Given the description of an element on the screen output the (x, y) to click on. 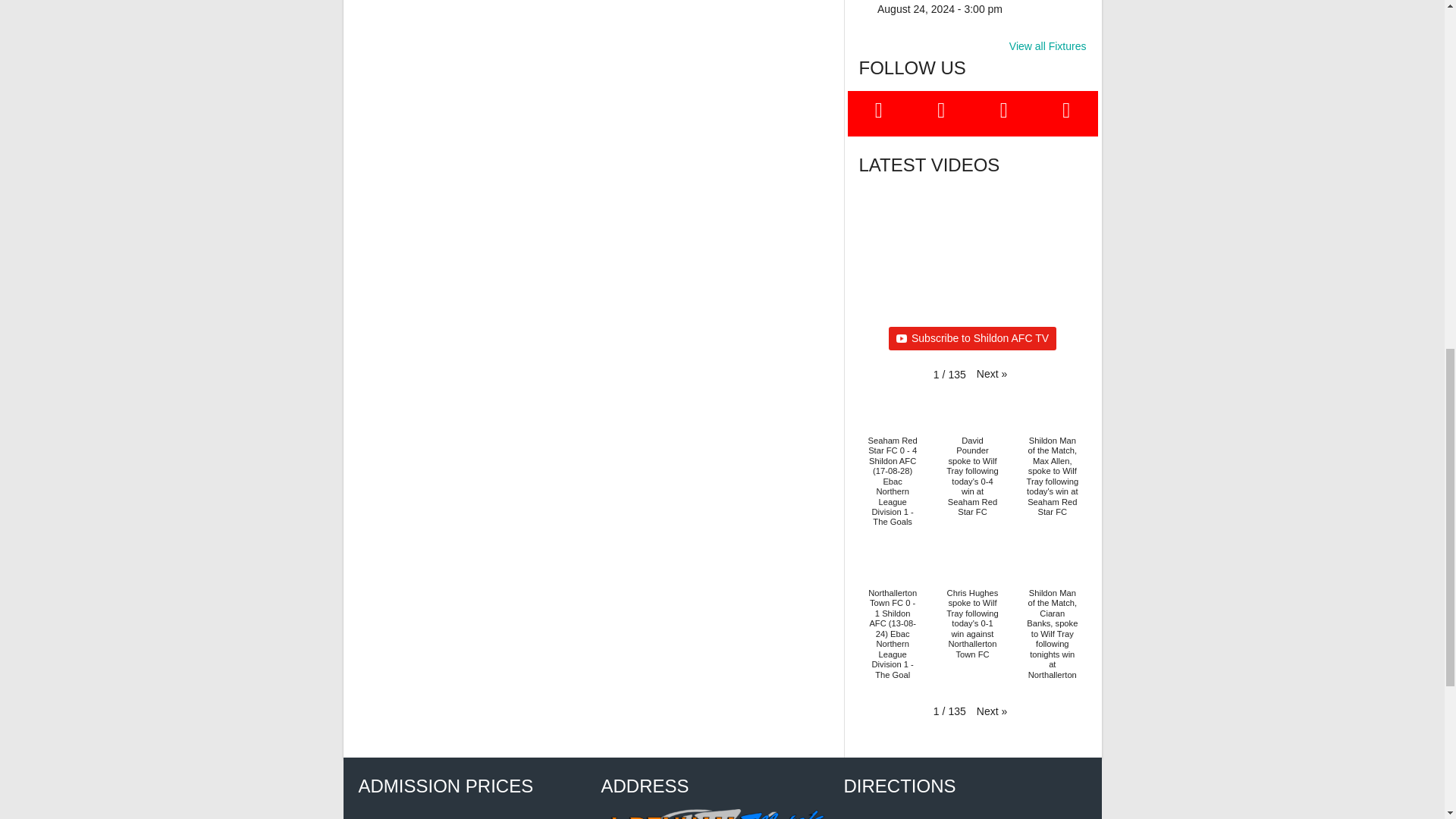
View all Fixtures (1047, 46)
YouTube player (972, 252)
Subscribe to Shildon AFC TV (972, 338)
